Given the description of an element on the screen output the (x, y) to click on. 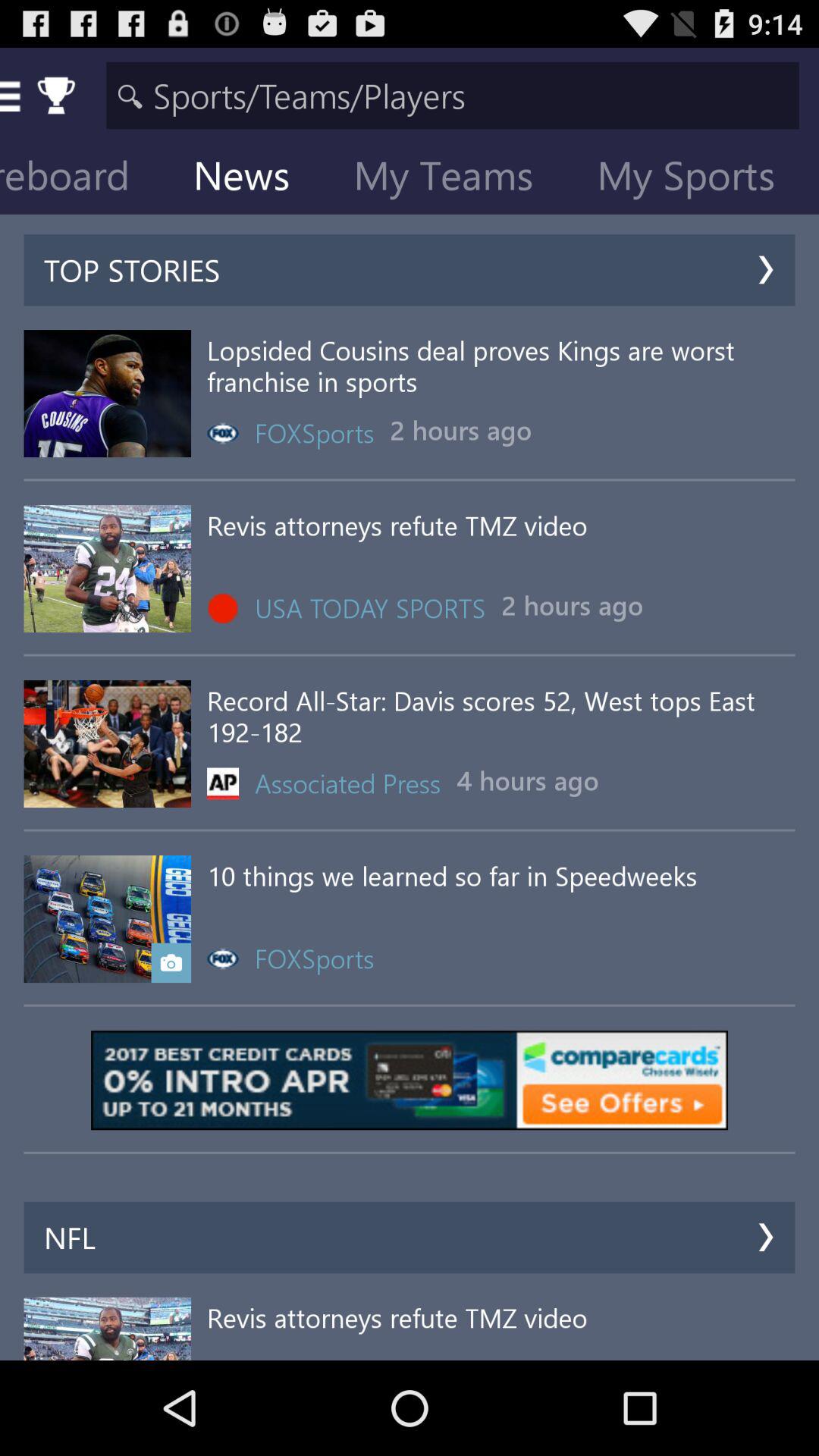
turn on the item next to the news item (86, 178)
